Given the description of an element on the screen output the (x, y) to click on. 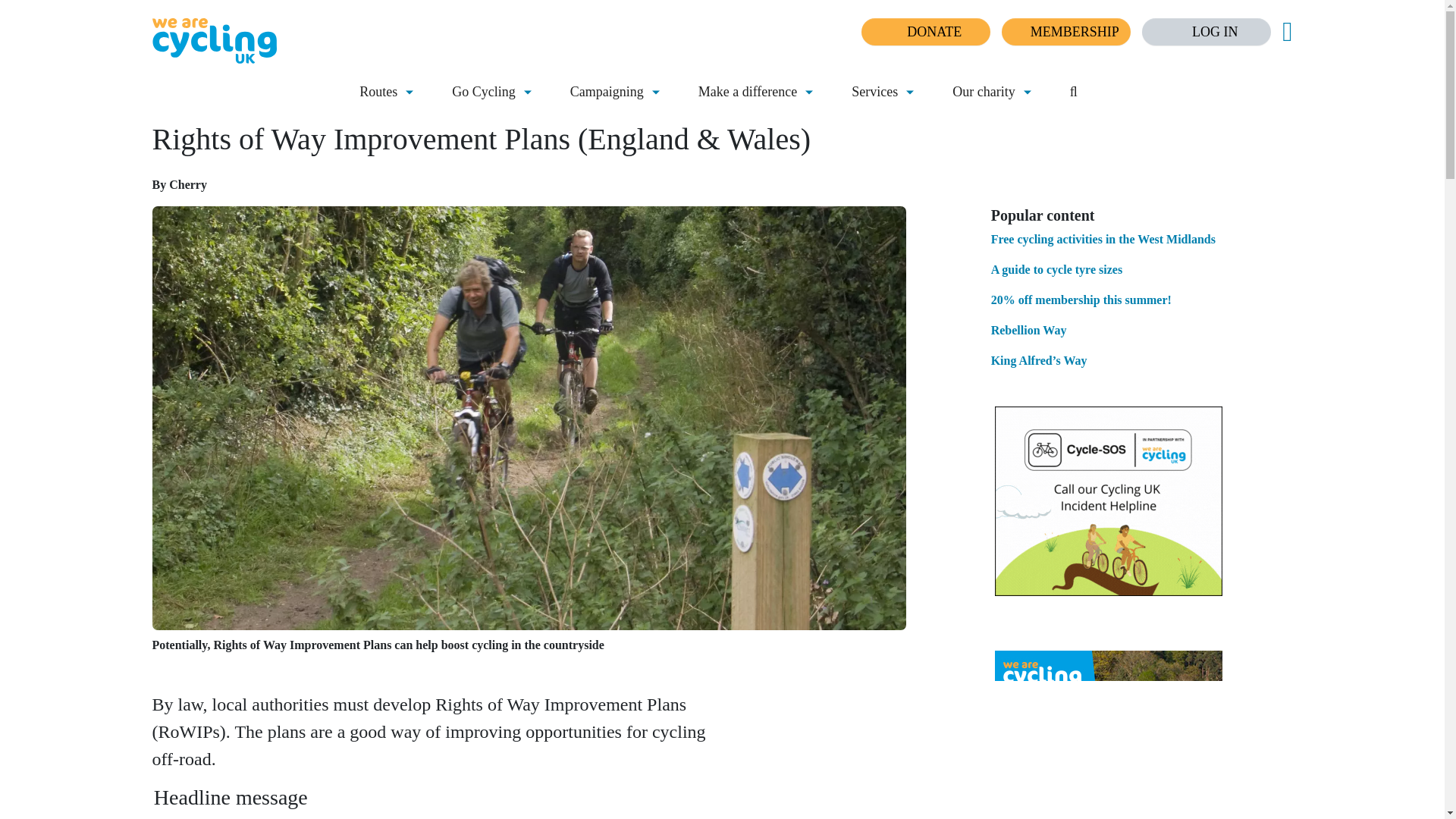
DONATE (925, 31)
Home (341, 40)
Log in (1206, 31)
Donate (925, 31)
Membership (1066, 31)
Go Cycling (483, 92)
Routes (378, 92)
LOG IN (1206, 31)
MEMBERSHIP (1066, 31)
Skip to main content (56, 10)
